Given the description of an element on the screen output the (x, y) to click on. 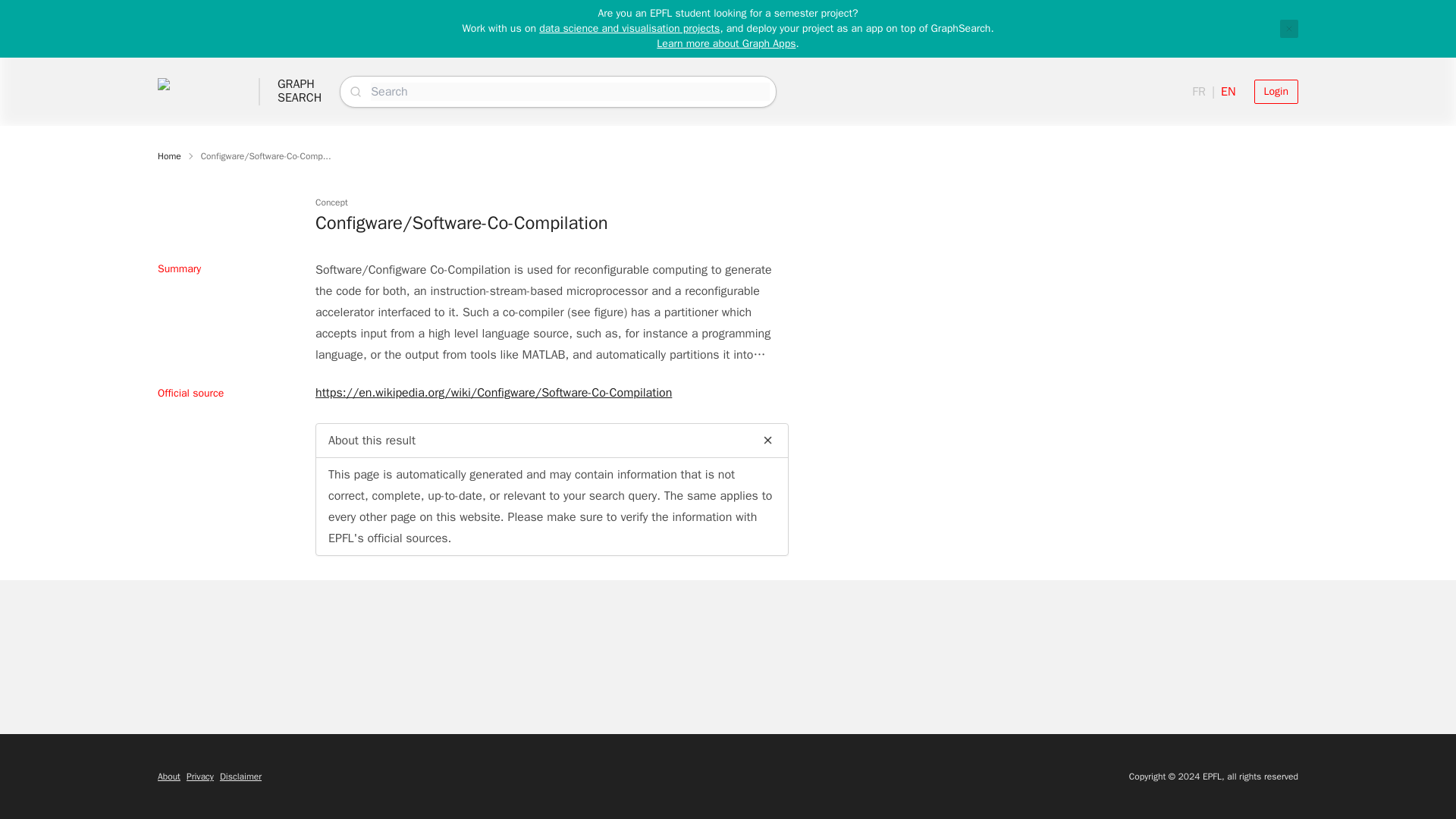
About (168, 776)
Disclaimer (299, 90)
data science and visualisation projects (240, 776)
Login (628, 28)
Home (1275, 91)
Learn more about Graph Apps (168, 155)
Close notification (725, 42)
Privacy (1288, 28)
FR (200, 776)
EN (1198, 91)
